Given the description of an element on the screen output the (x, y) to click on. 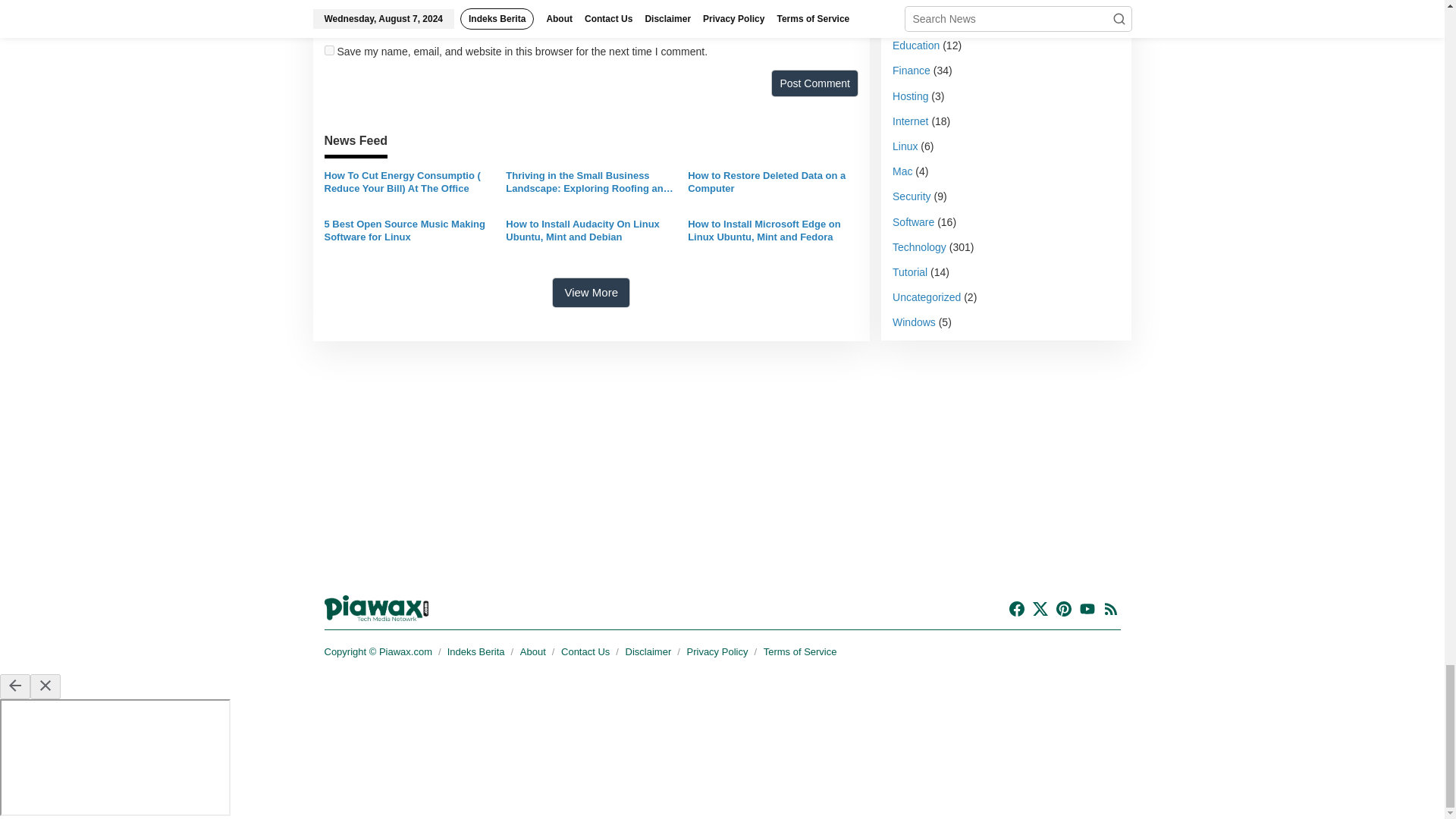
yes (329, 50)
Post Comment (815, 83)
